Given the description of an element on the screen output the (x, y) to click on. 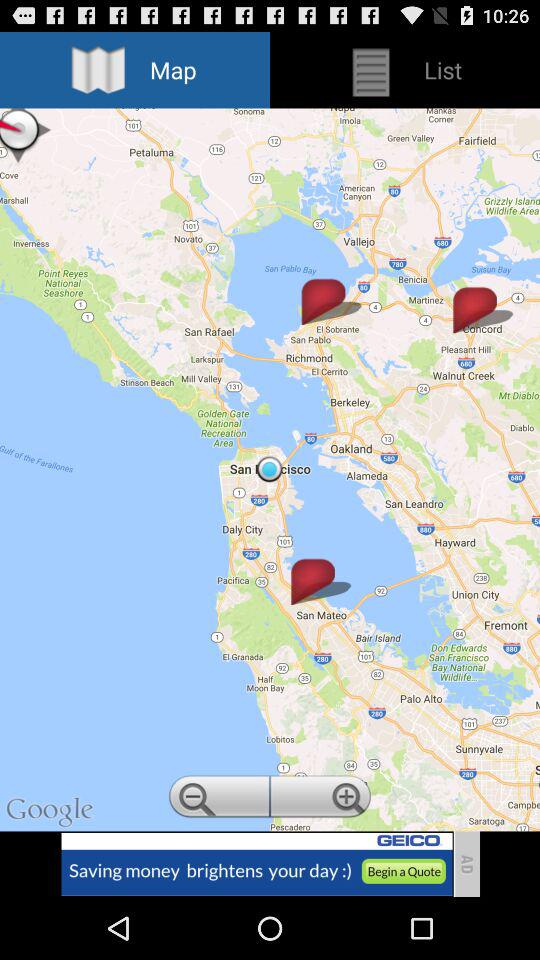
press advertisement on bottom (256, 864)
